Given the description of an element on the screen output the (x, y) to click on. 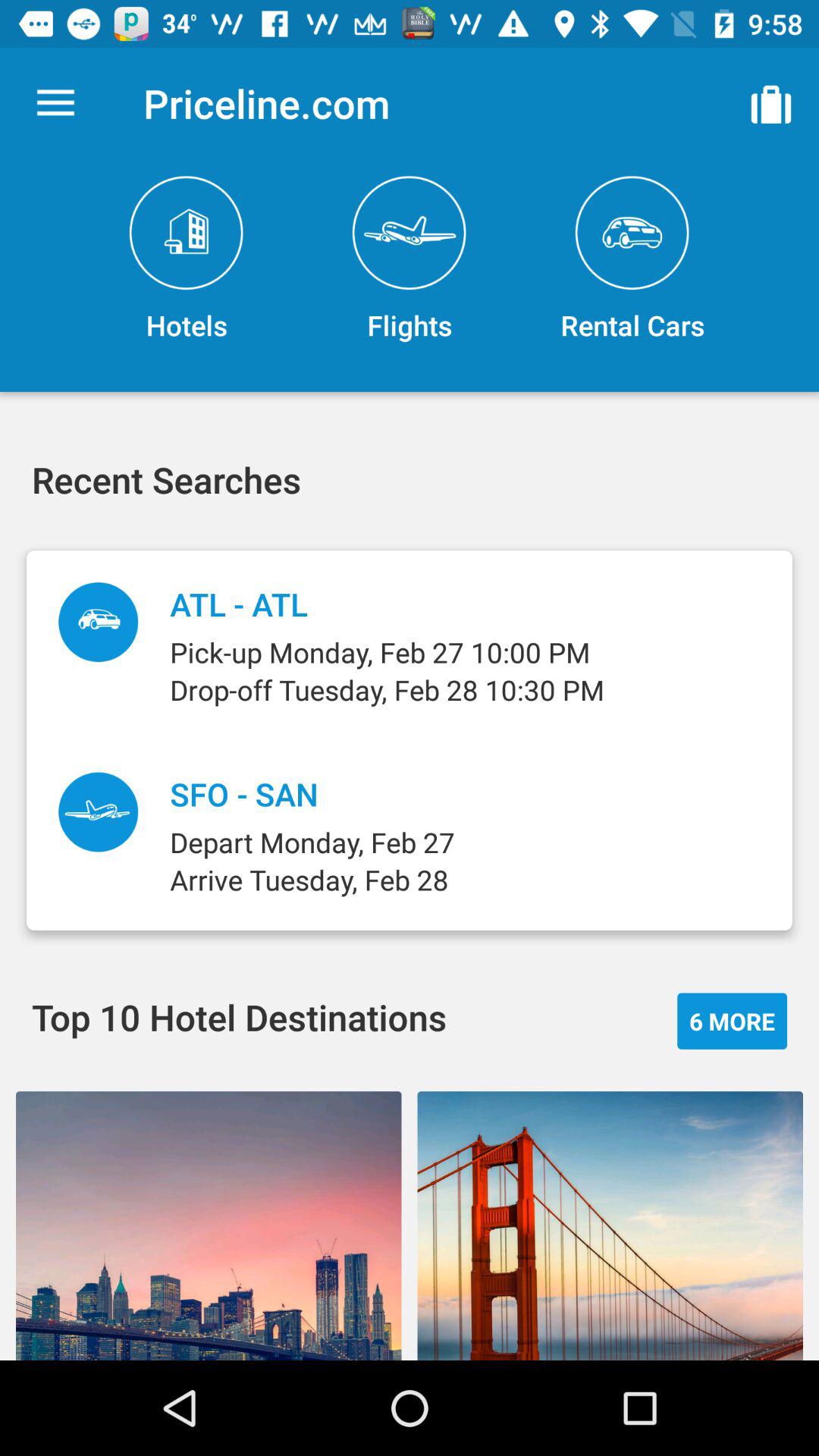
scroll until the 6 more item (732, 1021)
